Given the description of an element on the screen output the (x, y) to click on. 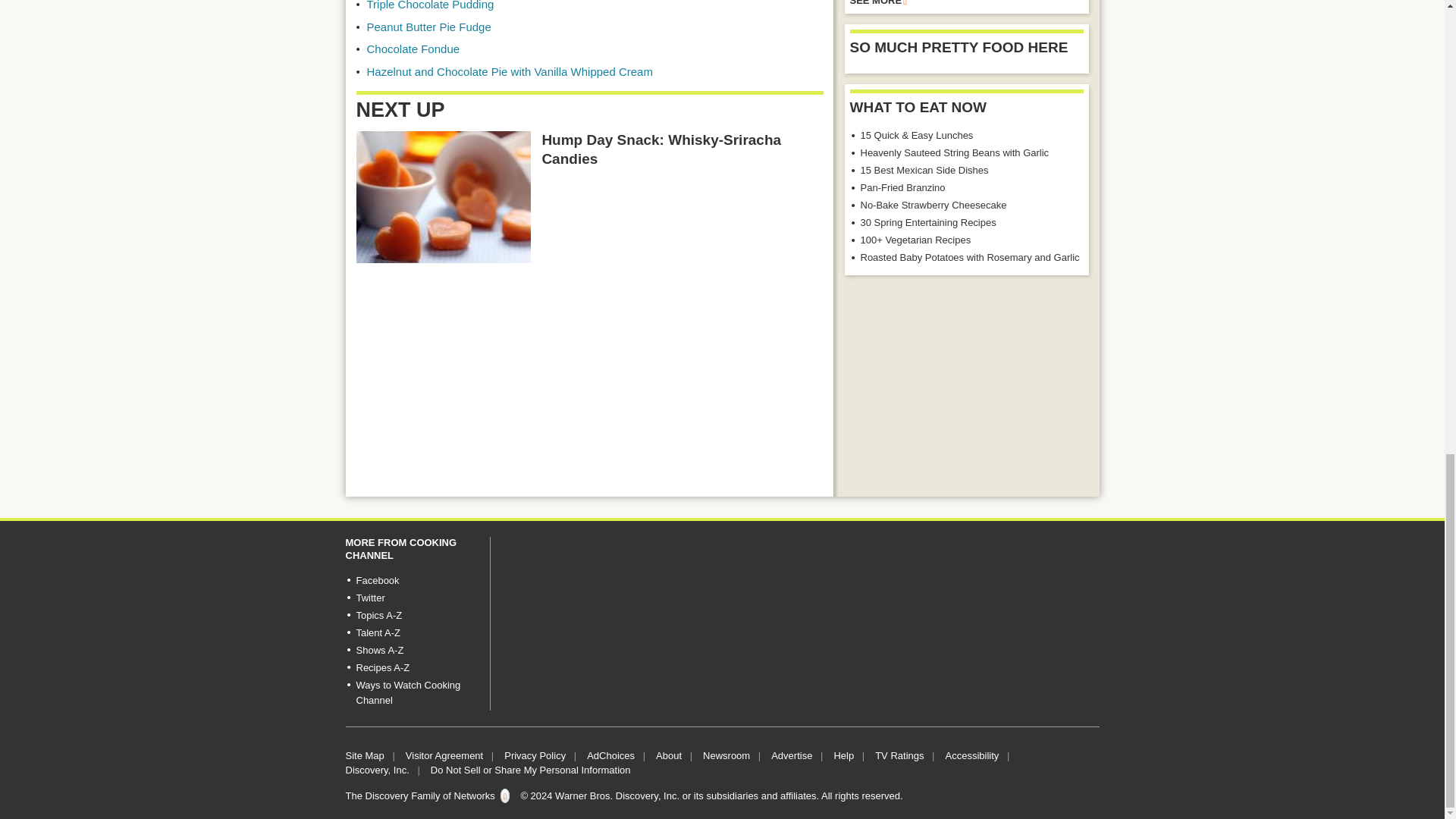
Peanut Butter Pie Fudge (429, 26)
Triple Chocolate Pudding (430, 5)
Hump Day Snack: Whisky-Sriracha Candies (443, 196)
